Given the description of an element on the screen output the (x, y) to click on. 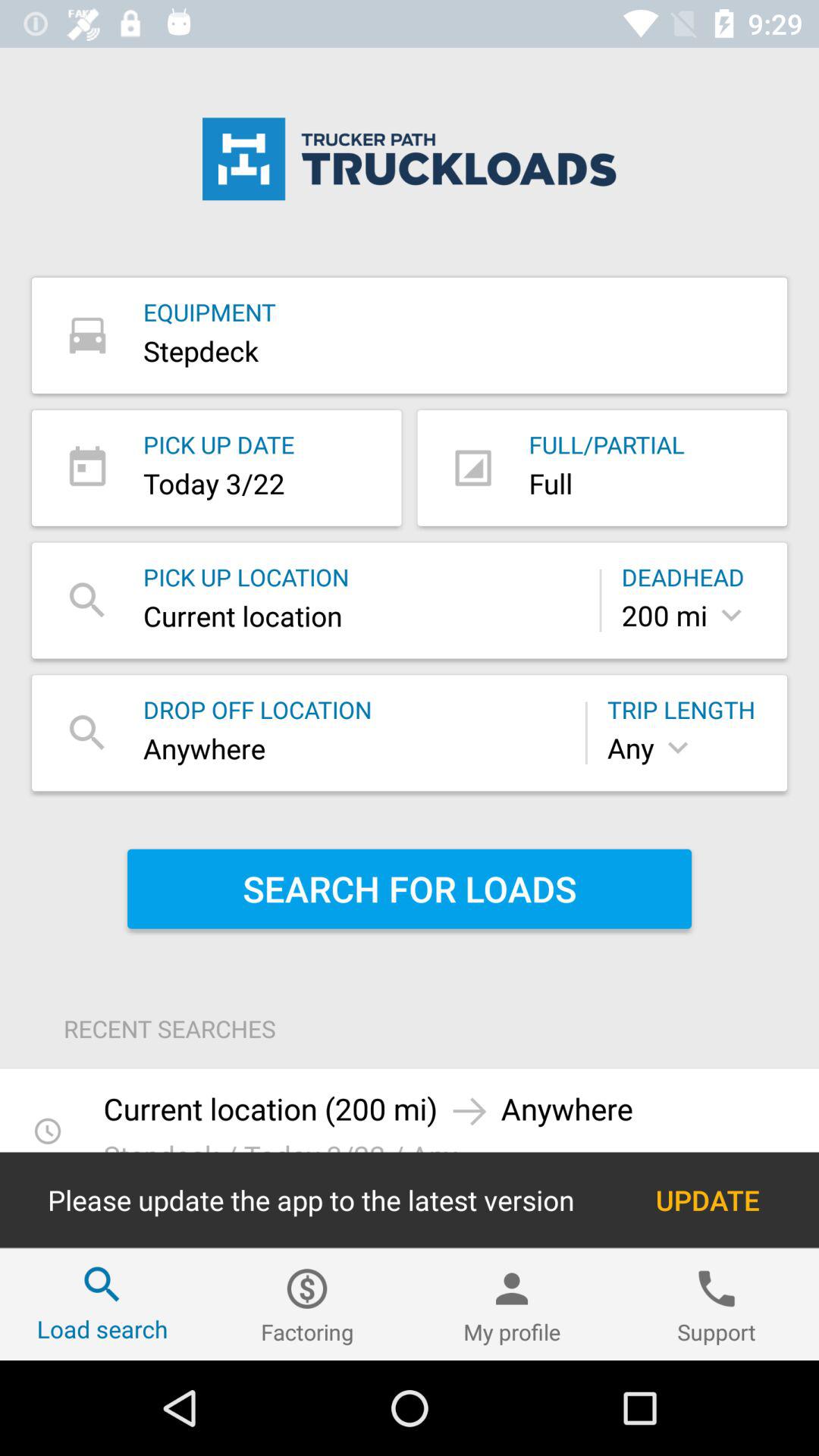
open the item next to the support (511, 1304)
